Given the description of an element on the screen output the (x, y) to click on. 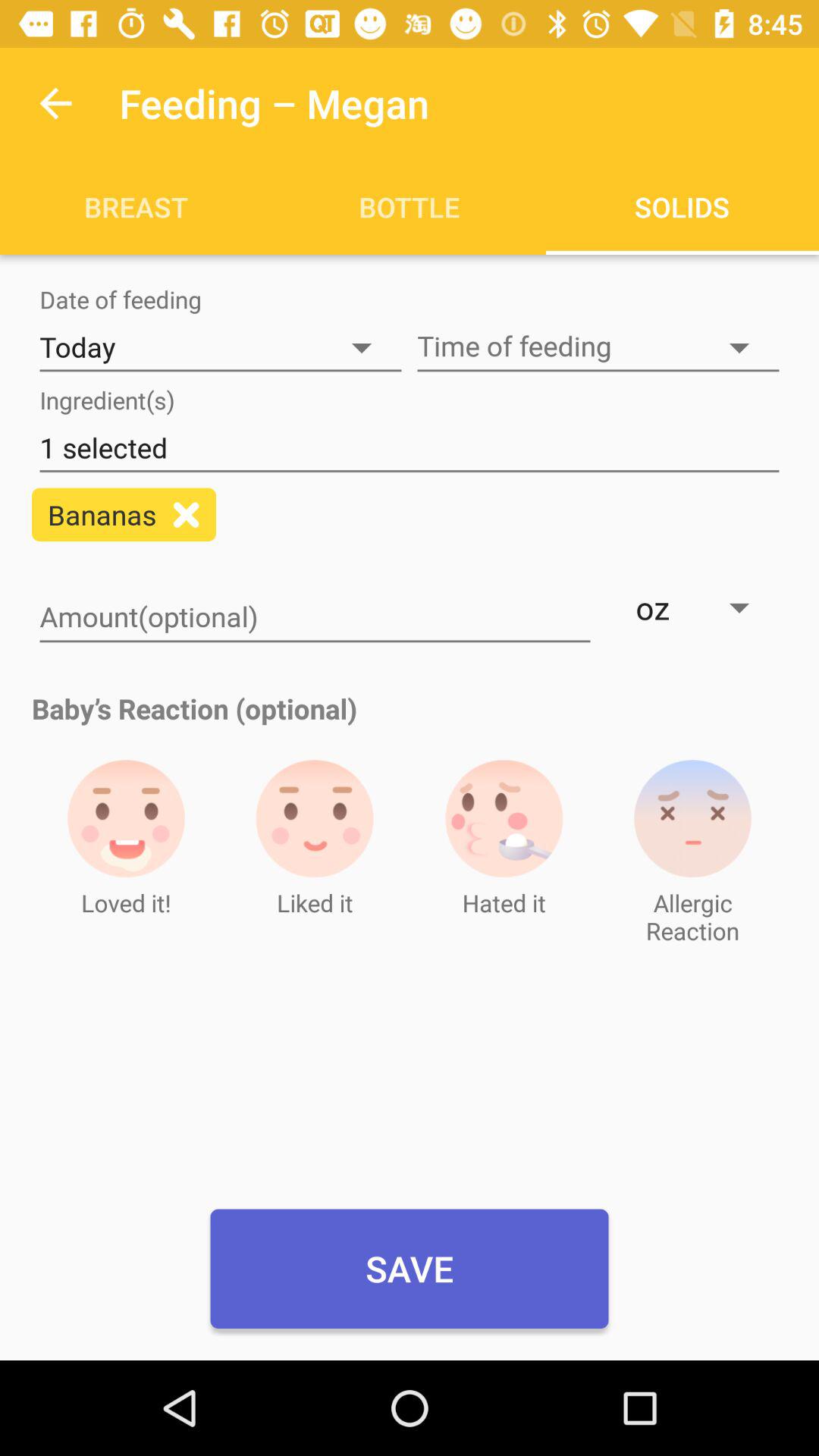
tap 1 selected item (409, 447)
